Given the description of an element on the screen output the (x, y) to click on. 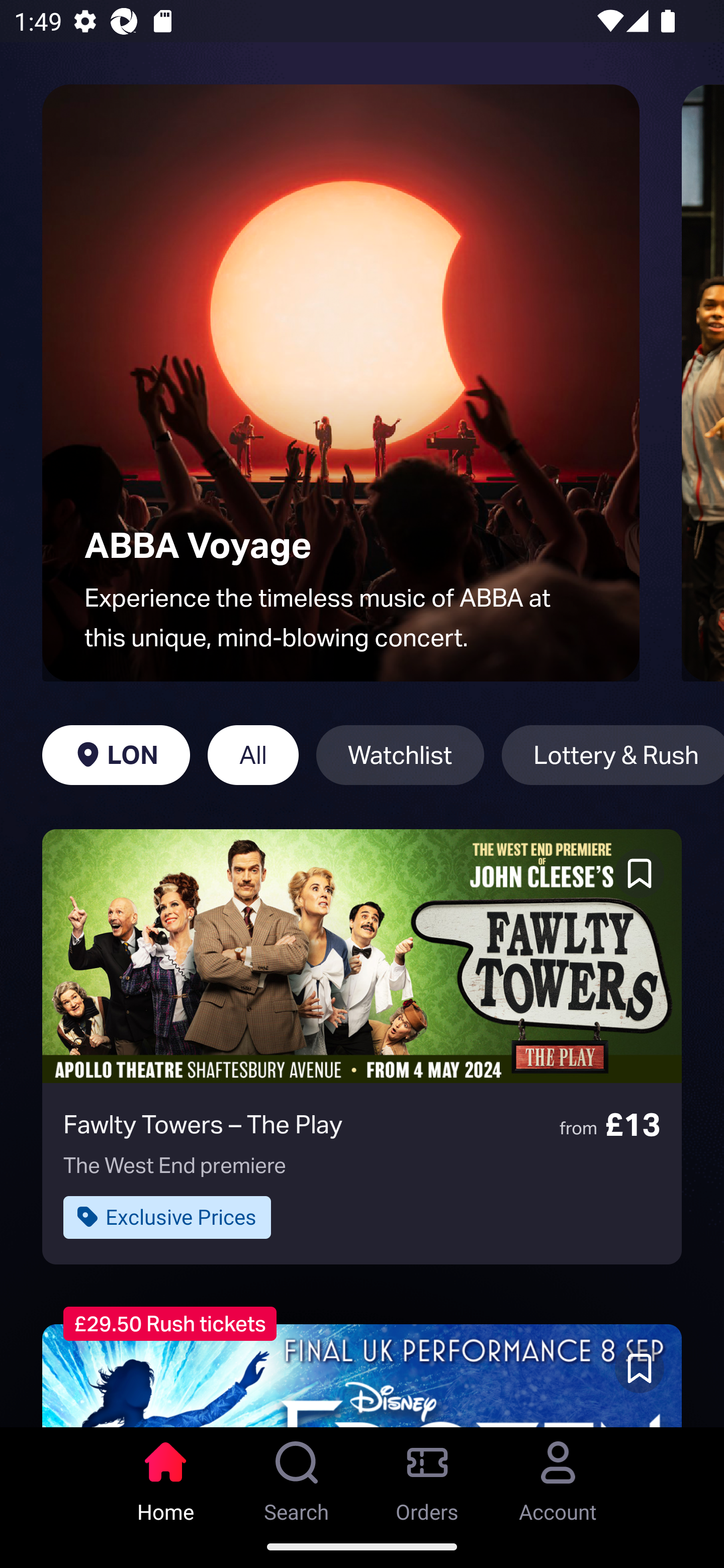
LON (115, 754)
All (252, 754)
Watchlist (400, 754)
Lottery & Rush (612, 754)
Search (296, 1475)
Orders (427, 1475)
Account (558, 1475)
